Given the description of an element on the screen output the (x, y) to click on. 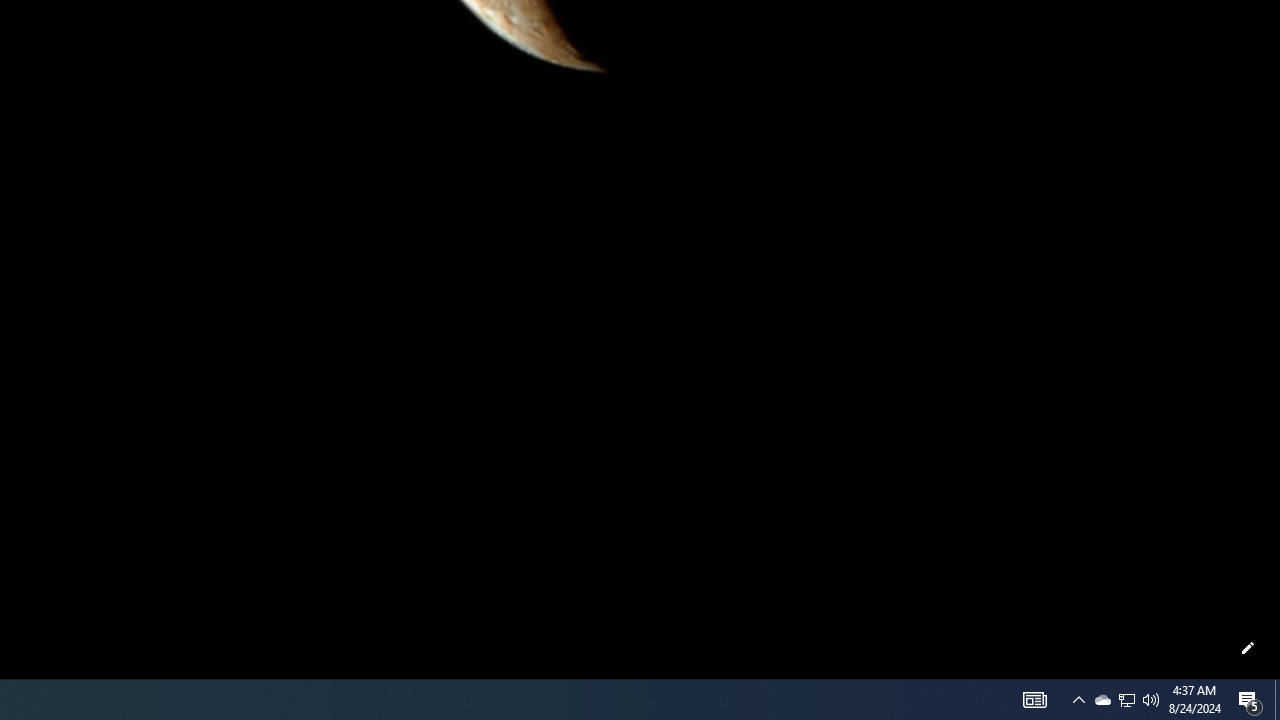
Customize this page (1247, 647)
